Given the description of an element on the screen output the (x, y) to click on. 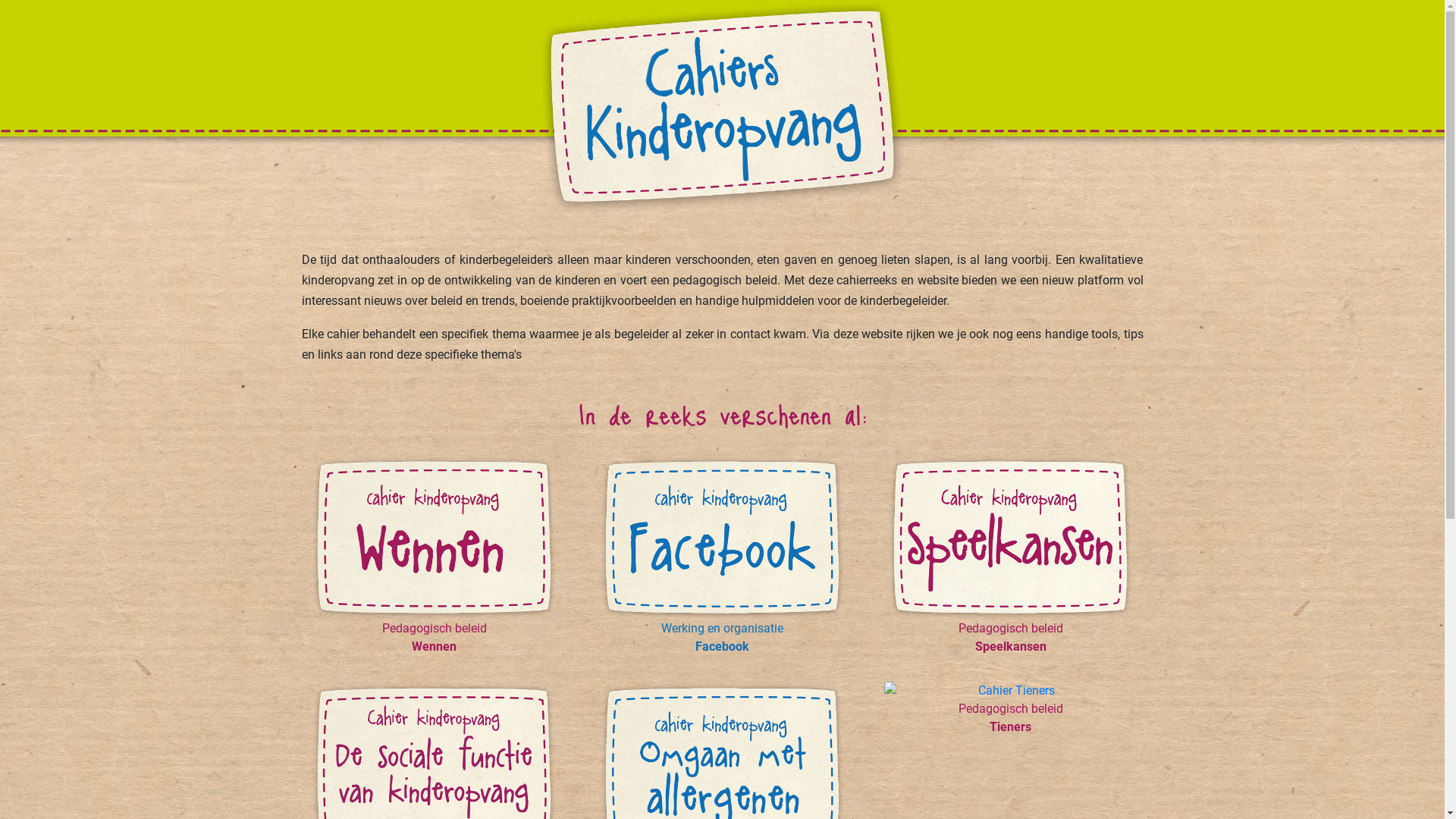
Cahier Tieners Element type: hover (1010, 690)
Cahier Facebook Element type: hover (722, 537)
Cahier Wennen Element type: hover (433, 537)
Cahier Speelkansen Element type: hover (1010, 537)
Cahiers Kinderopvang Element type: hover (721, 106)
